Given the description of an element on the screen output the (x, y) to click on. 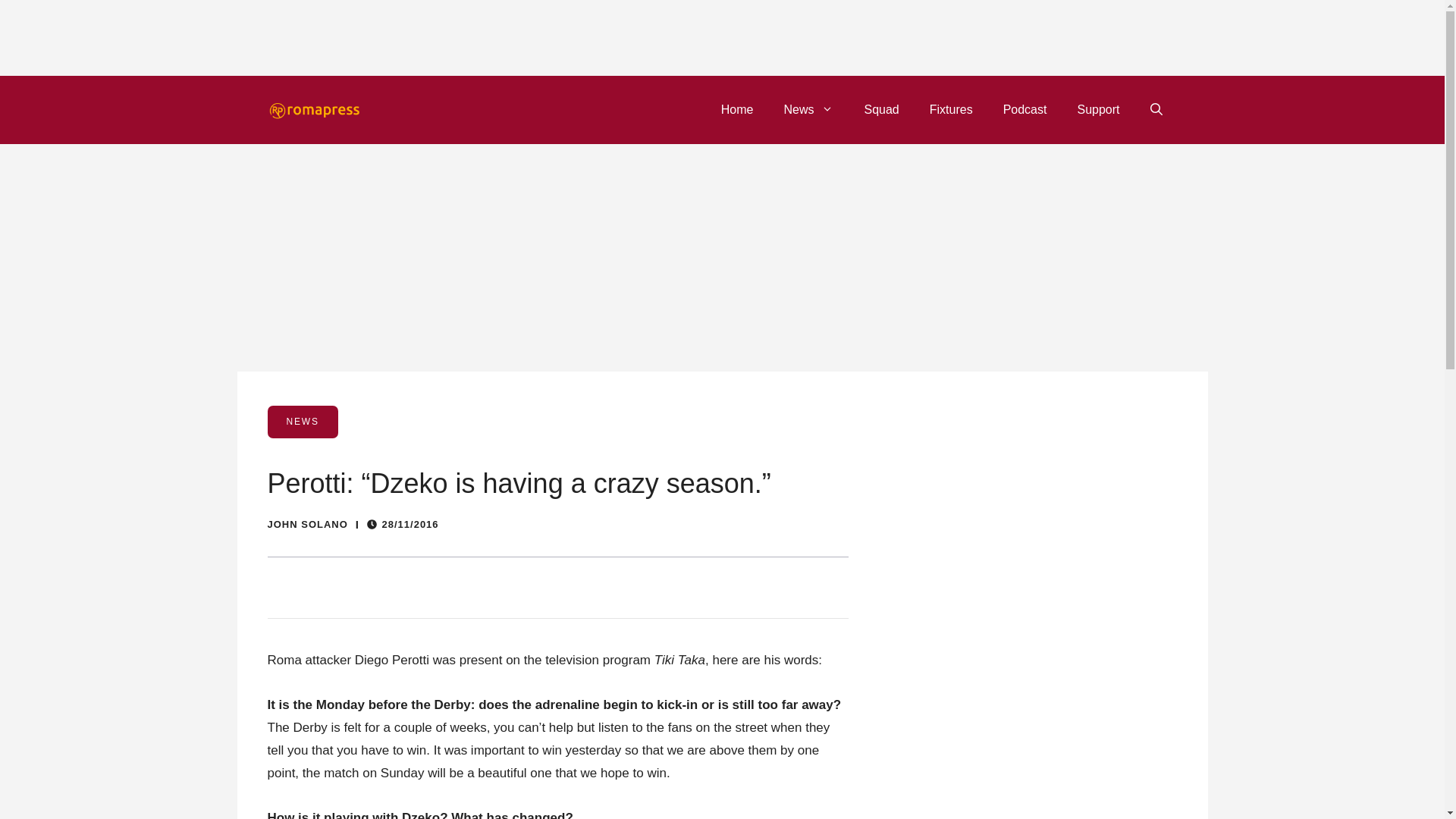
Podcast (1025, 109)
Squad (881, 109)
Support (1097, 109)
Home (737, 109)
News (808, 109)
Fixtures (951, 109)
